Given the description of an element on the screen output the (x, y) to click on. 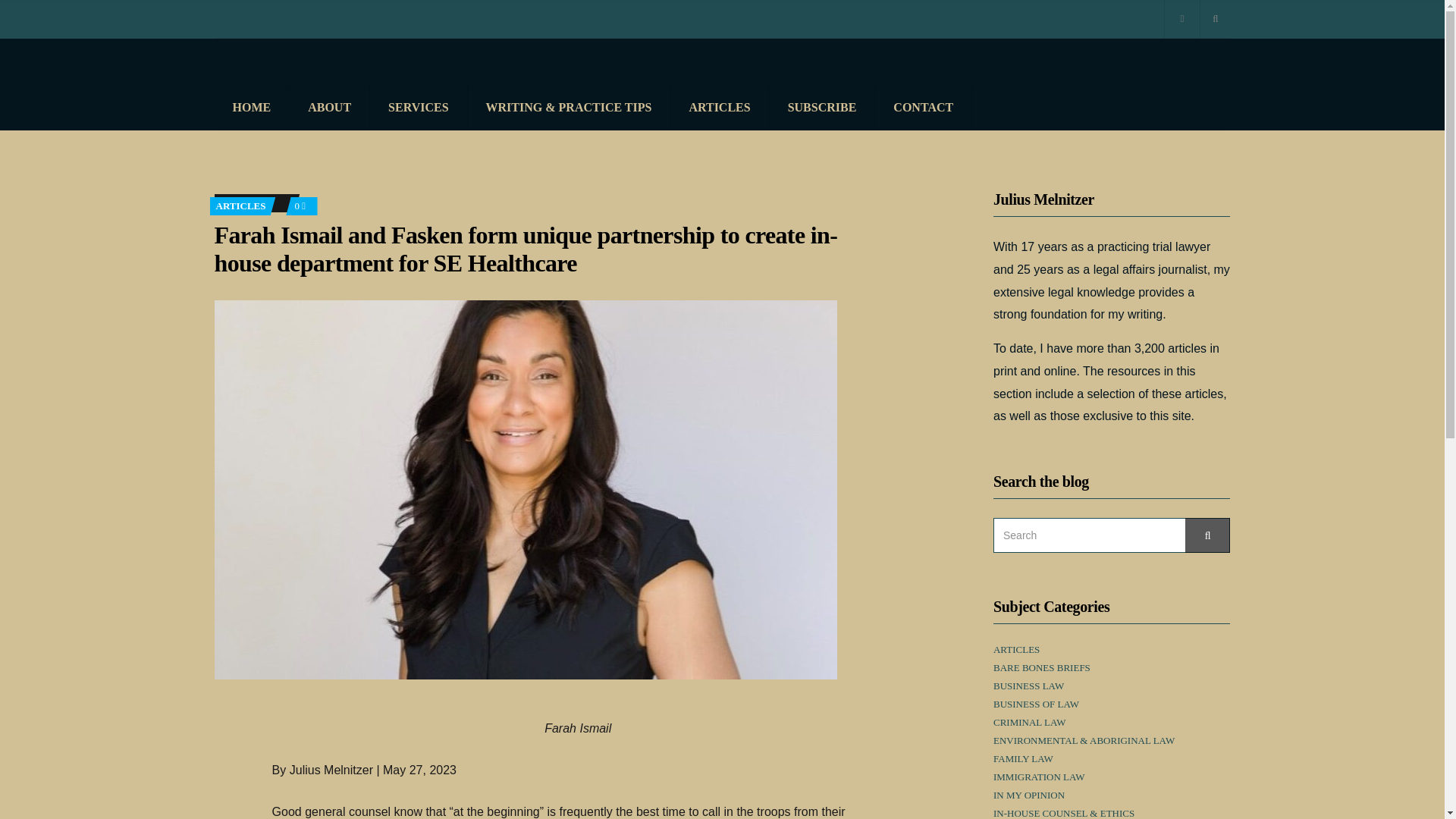
ARTICLES (718, 107)
ARTICLES (239, 205)
Search (1207, 534)
ARTICLES (1015, 649)
CONTACT (923, 107)
SUBSCRIBE (823, 107)
ABOUT (329, 107)
IMMIGRATION LAW (1038, 776)
HOME (251, 107)
IN MY OPINION (1028, 795)
